Given the description of an element on the screen output the (x, y) to click on. 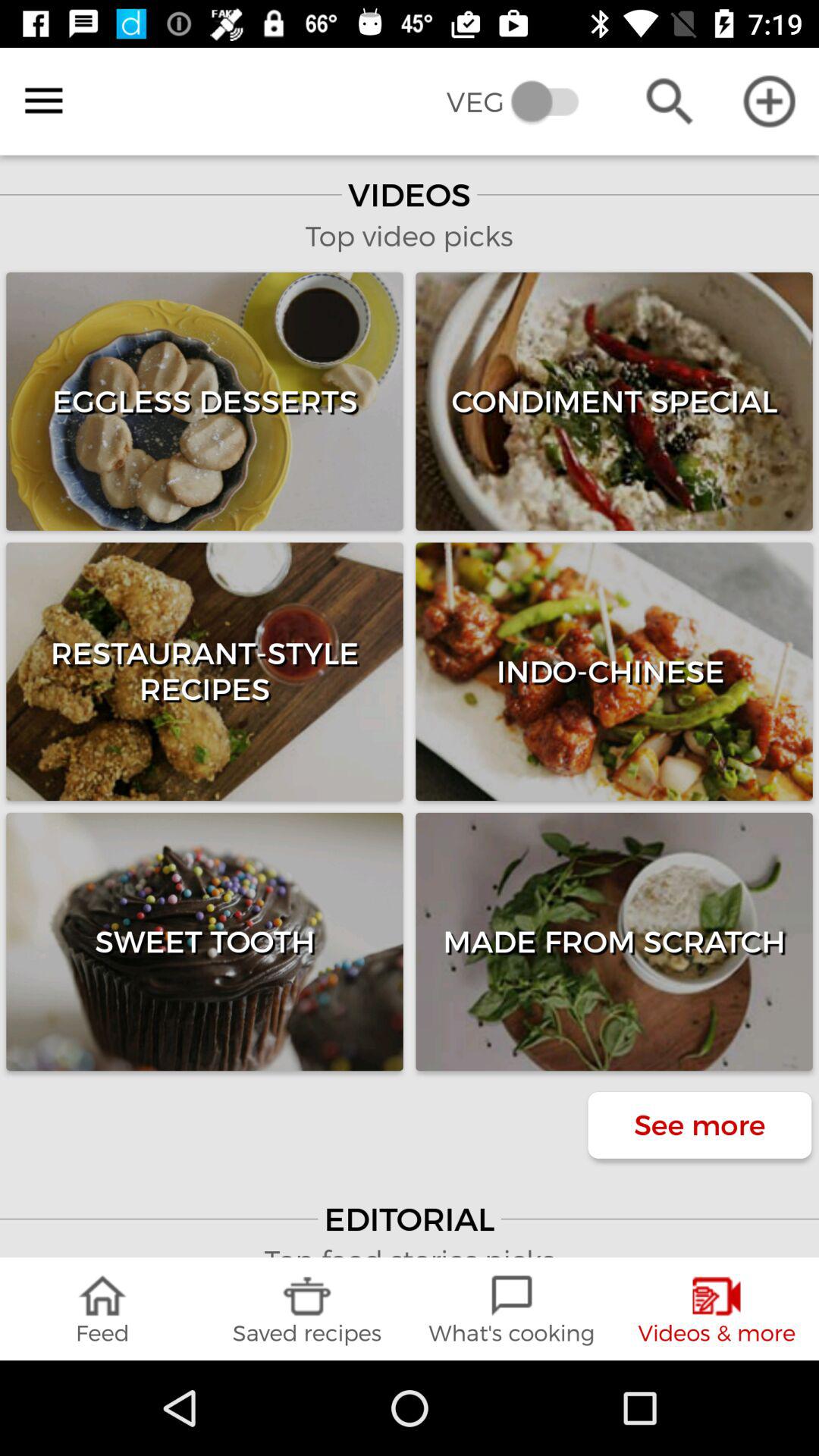
choose the icon next to the what's cooking item (306, 1308)
